Given the description of an element on the screen output the (x, y) to click on. 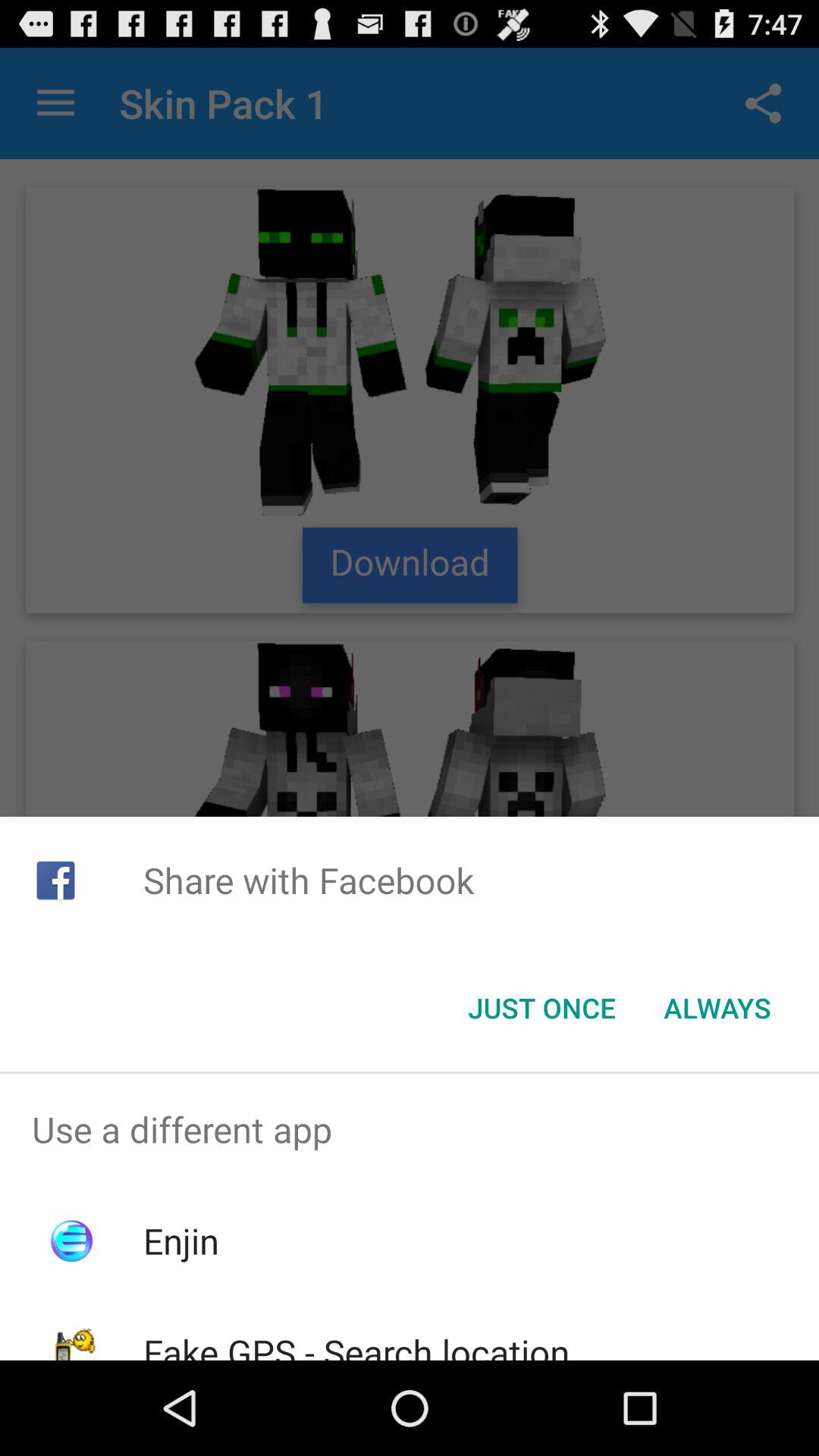
click app below the share with facebook item (717, 1007)
